Given the description of an element on the screen output the (x, y) to click on. 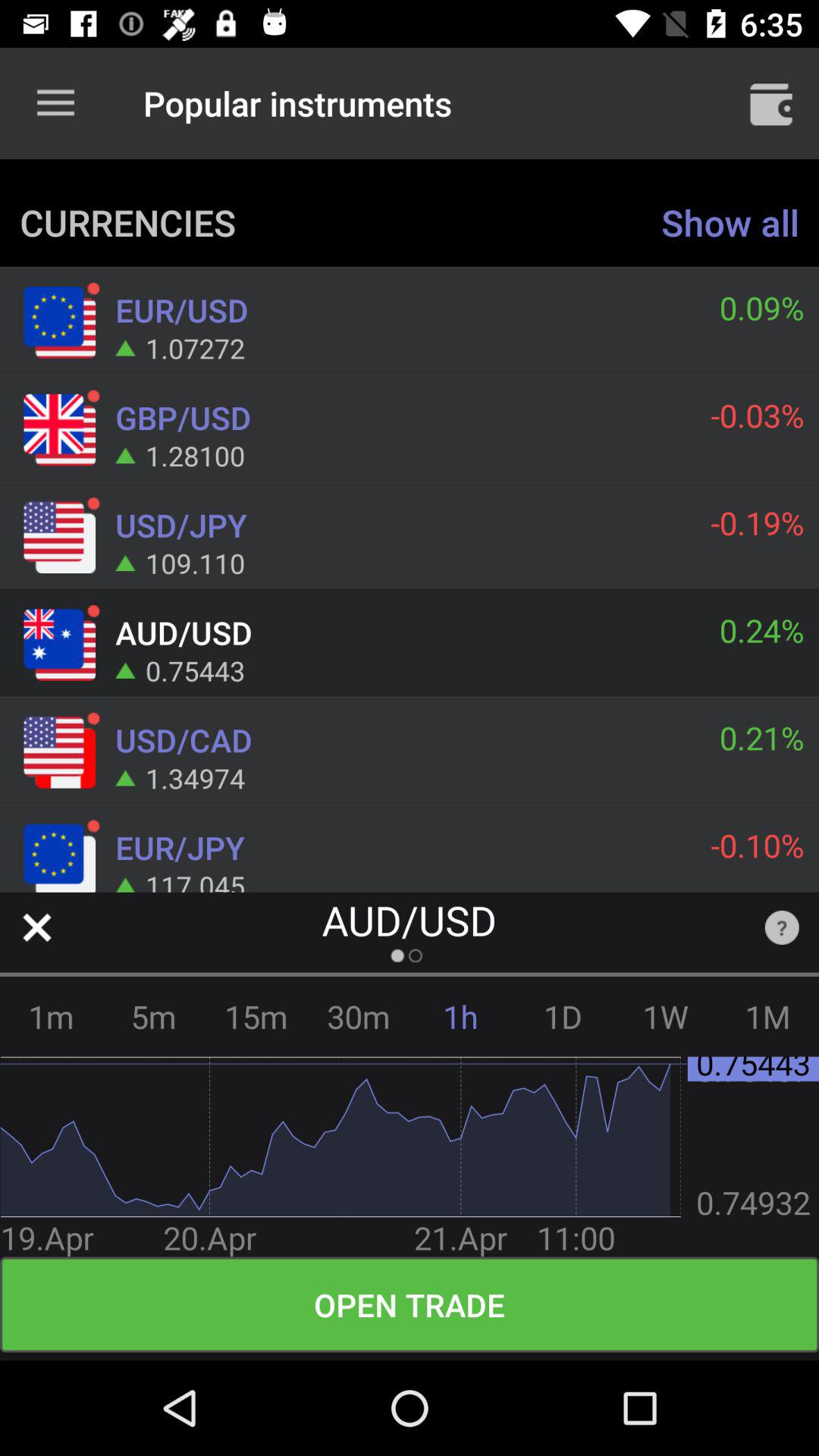
launch the item to the right of 30m (460, 1016)
